Given the description of an element on the screen output the (x, y) to click on. 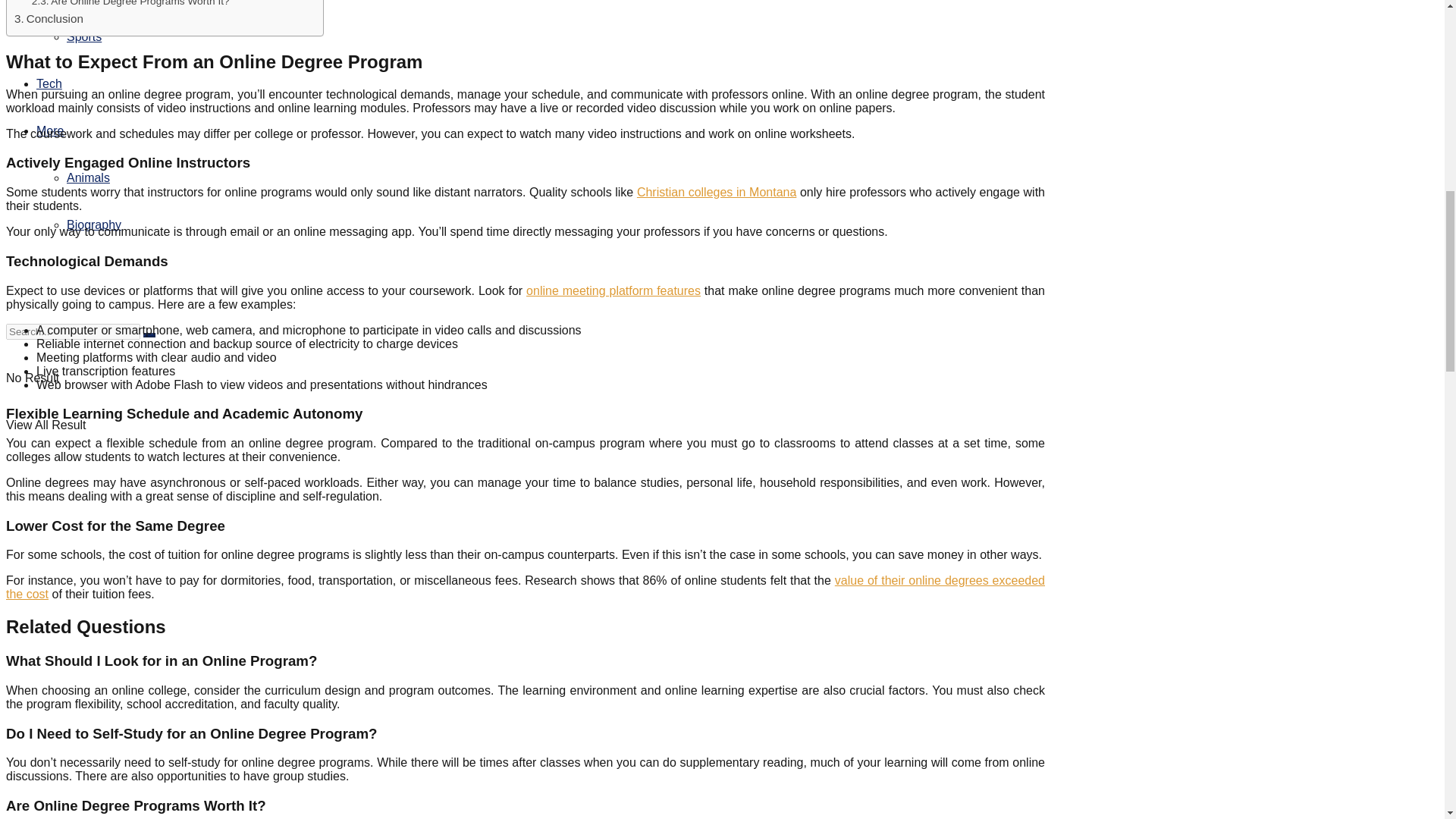
Sports (83, 36)
More (50, 130)
Are Online Degree Programs Worth It? (131, 4)
Conclusion (48, 18)
Biography (93, 224)
Animals (88, 177)
Tech (49, 83)
